Given the description of an element on the screen output the (x, y) to click on. 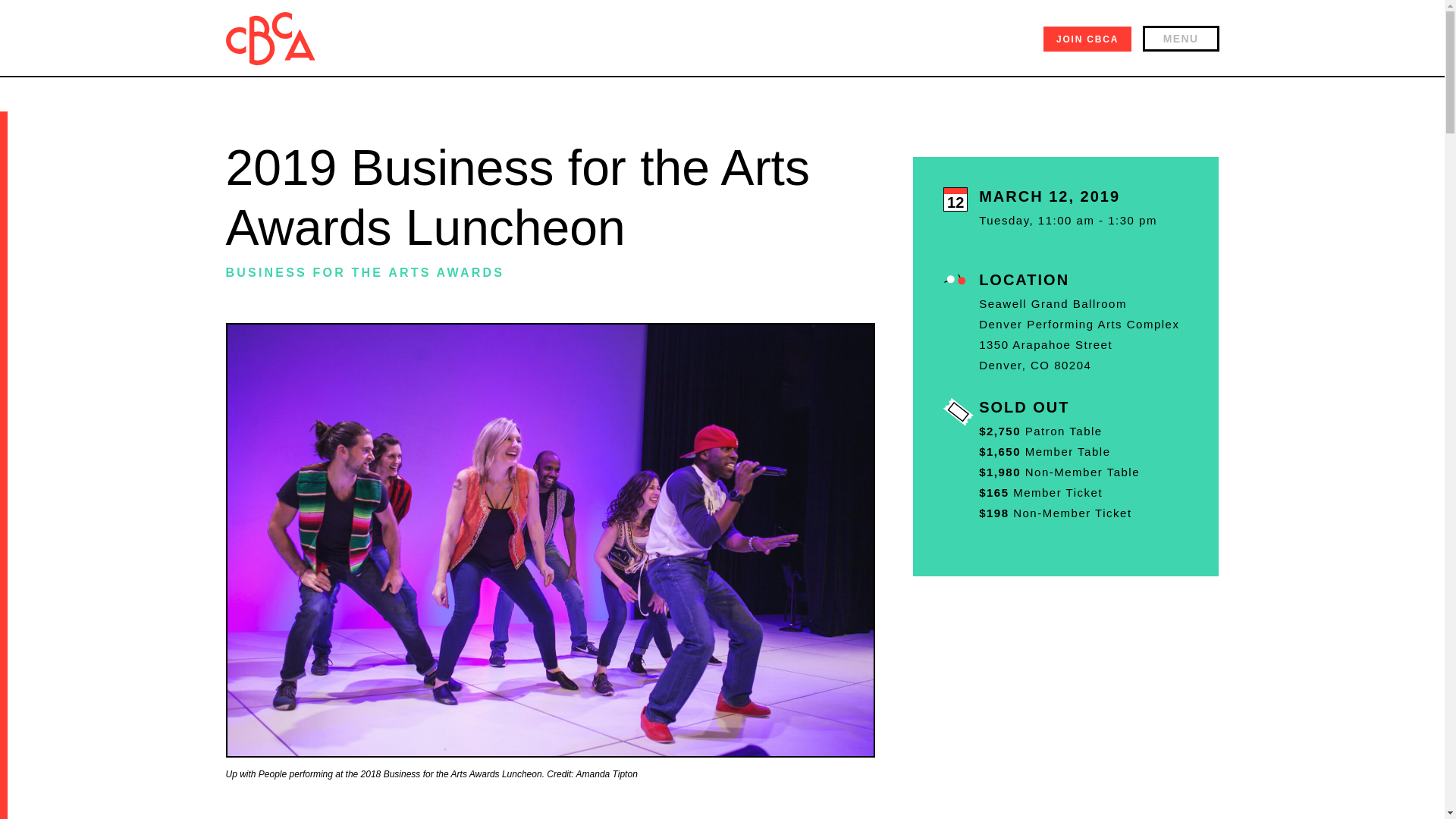
BUSINESS FOR THE ARTS AWARDS (365, 272)
JOIN CBCA (1087, 38)
MENU (1181, 38)
